Given the description of an element on the screen output the (x, y) to click on. 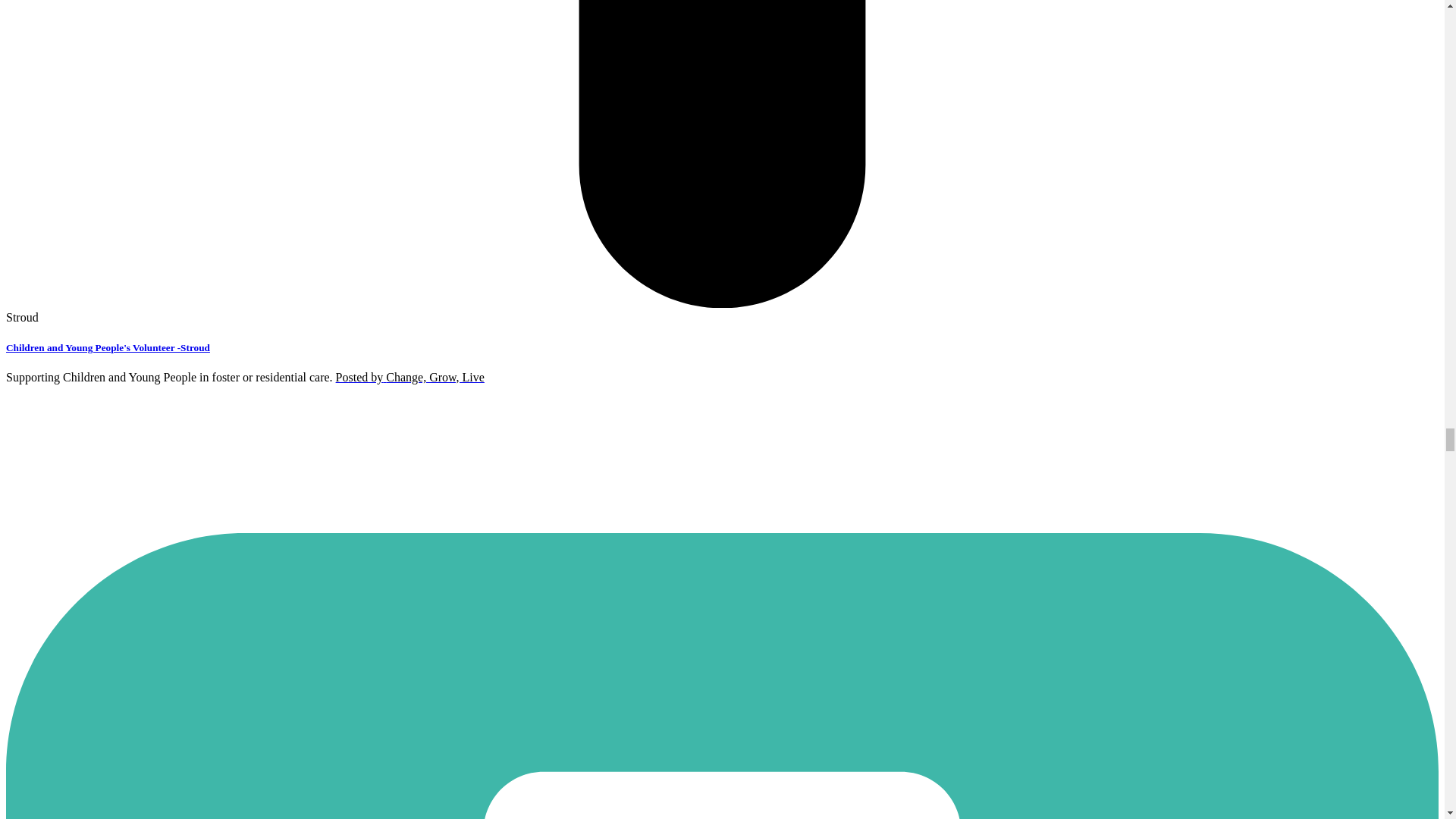
Posted by Change, Grow, Live (410, 377)
